Given the description of an element on the screen output the (x, y) to click on. 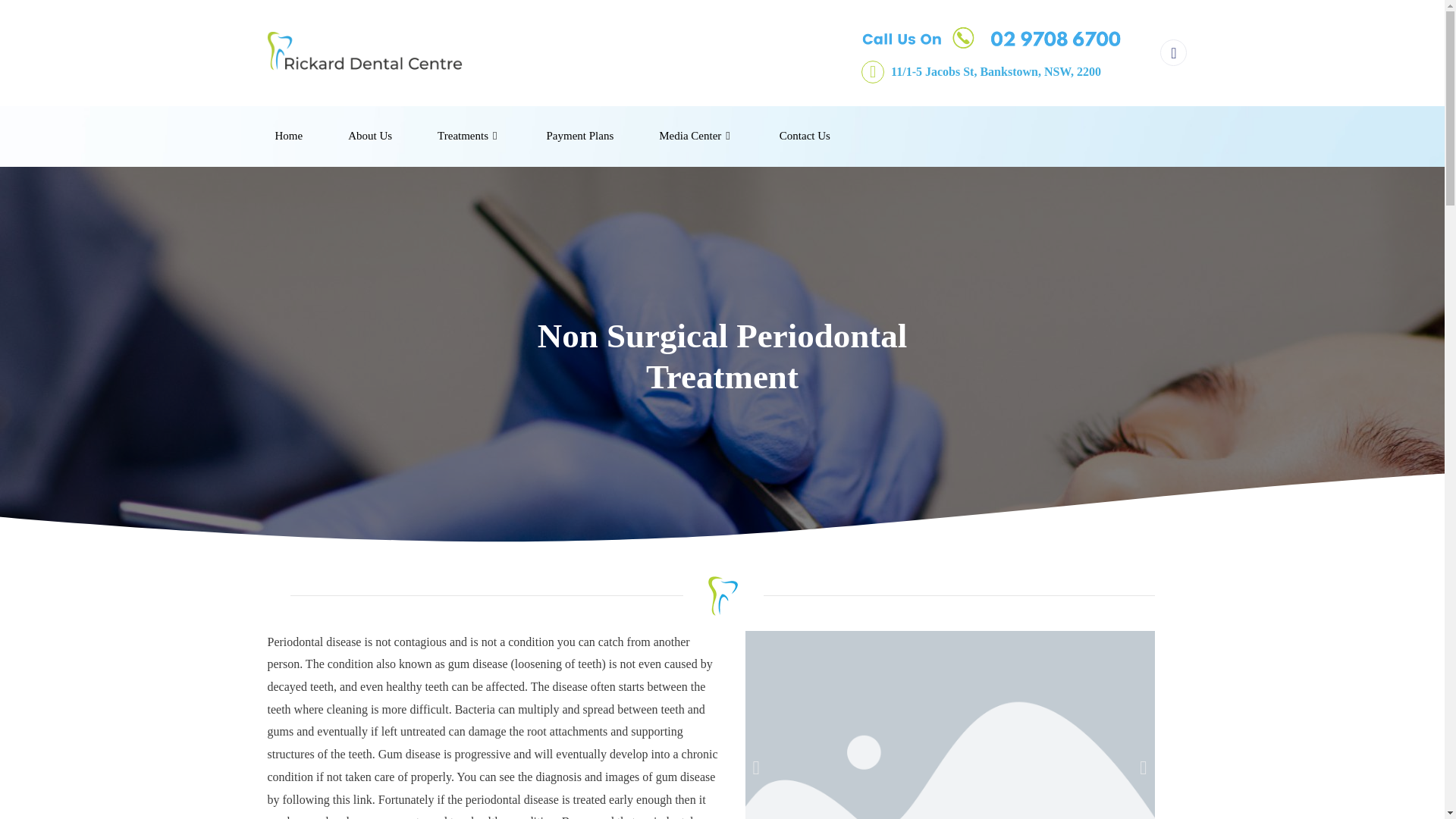
Home (287, 136)
Treatments (468, 136)
About Us (369, 136)
